Given the description of an element on the screen output the (x, y) to click on. 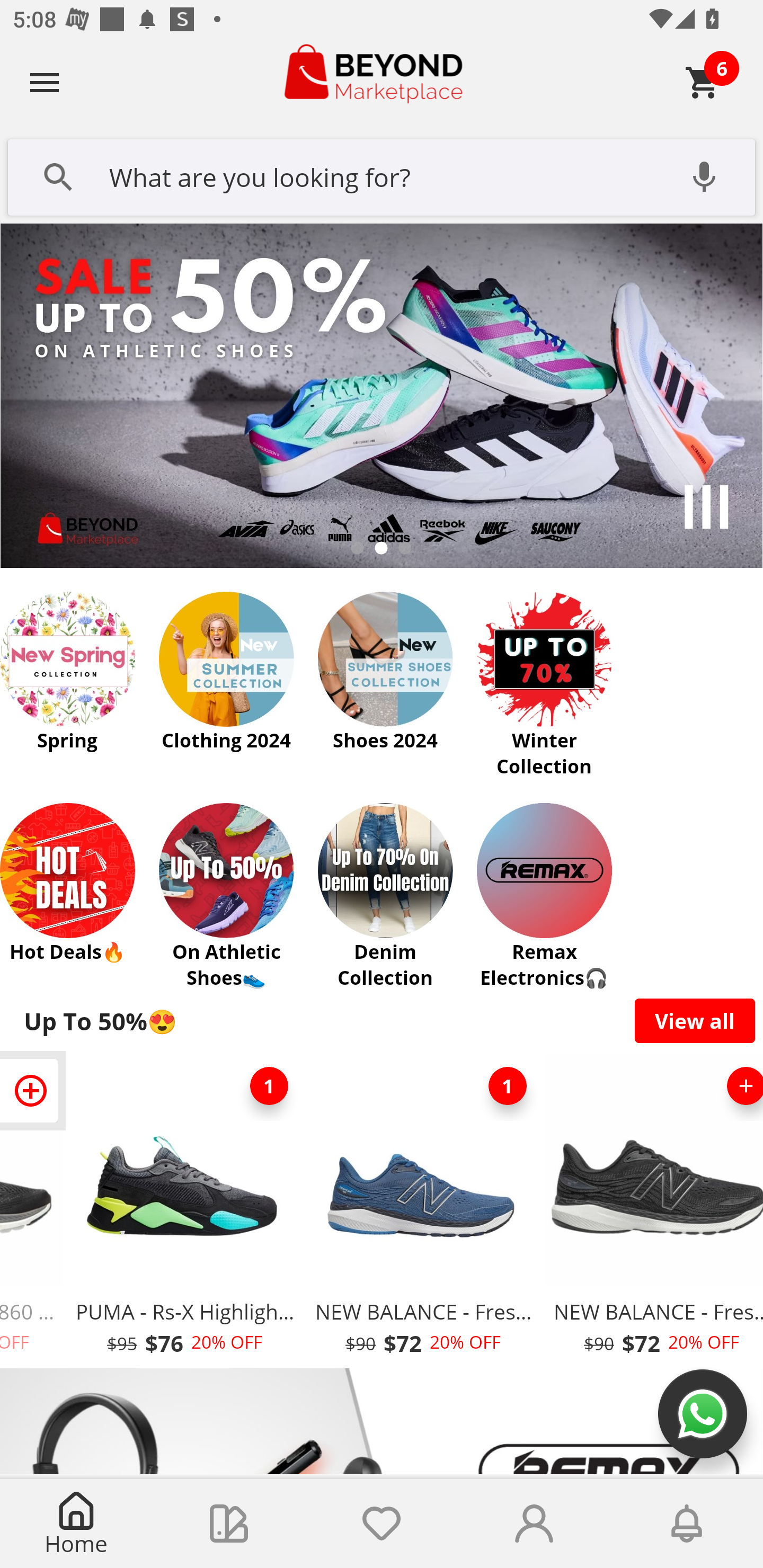
Navigate up (44, 82)
What are you looking for? (381, 175)
View all (694, 1020)
1 (269, 1085)
1 (507, 1085)
Collections (228, 1523)
Wishlist (381, 1523)
Account (533, 1523)
Notifications (686, 1523)
